Given the description of an element on the screen output the (x, y) to click on. 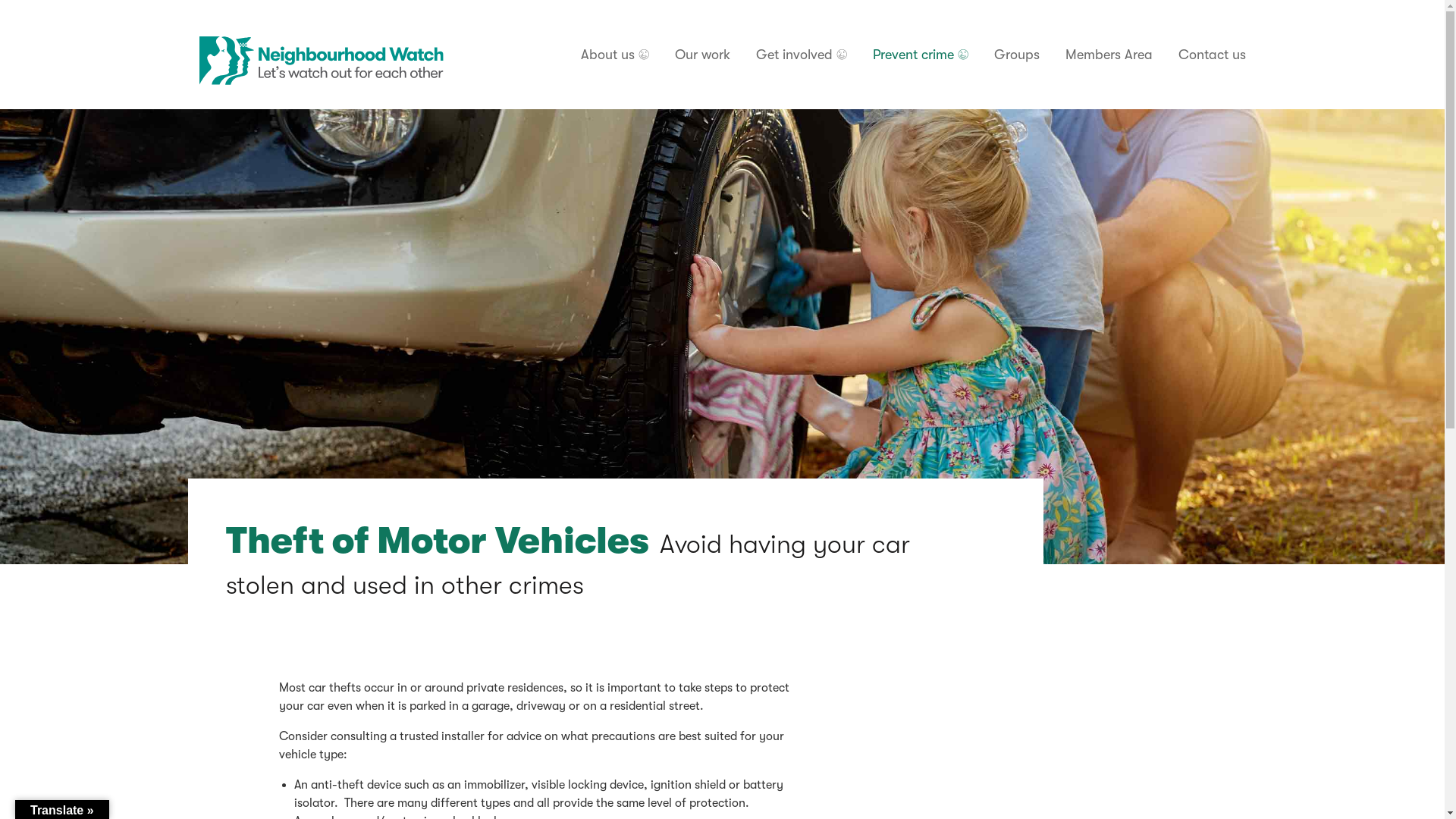
Groups Element type: text (1015, 54)
Our work Element type: text (702, 54)
Members Area Element type: text (1108, 54)
Contact us Element type: text (1207, 54)
